Given the description of an element on the screen output the (x, y) to click on. 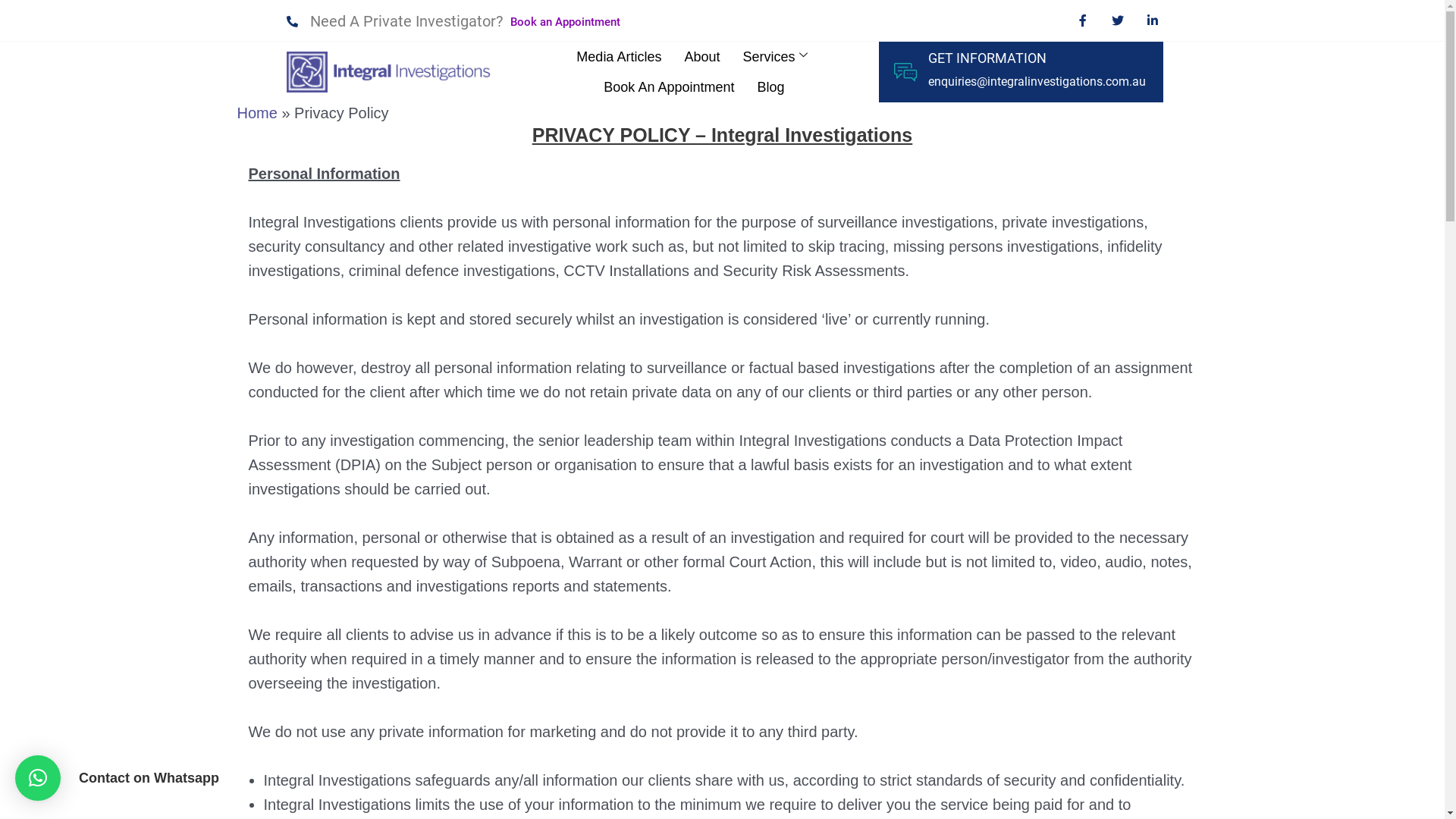
Facebook-f Element type: text (1082, 20)
Home Element type: text (256, 112)
Services Element type: text (776, 56)
Media Articles Element type: text (618, 56)
About Element type: text (701, 56)
Need A Private Investigator? Element type: text (394, 21)
Contact on Whatsapp Element type: text (37, 777)
Blog Element type: text (770, 87)
Twitter Element type: text (1117, 20)
Book An Appointment Element type: text (668, 87)
Book an Appointment Element type: text (565, 22)
Linkedin-in Element type: text (1152, 20)
GET INFORMATION Element type: text (987, 57)
